Given the description of an element on the screen output the (x, y) to click on. 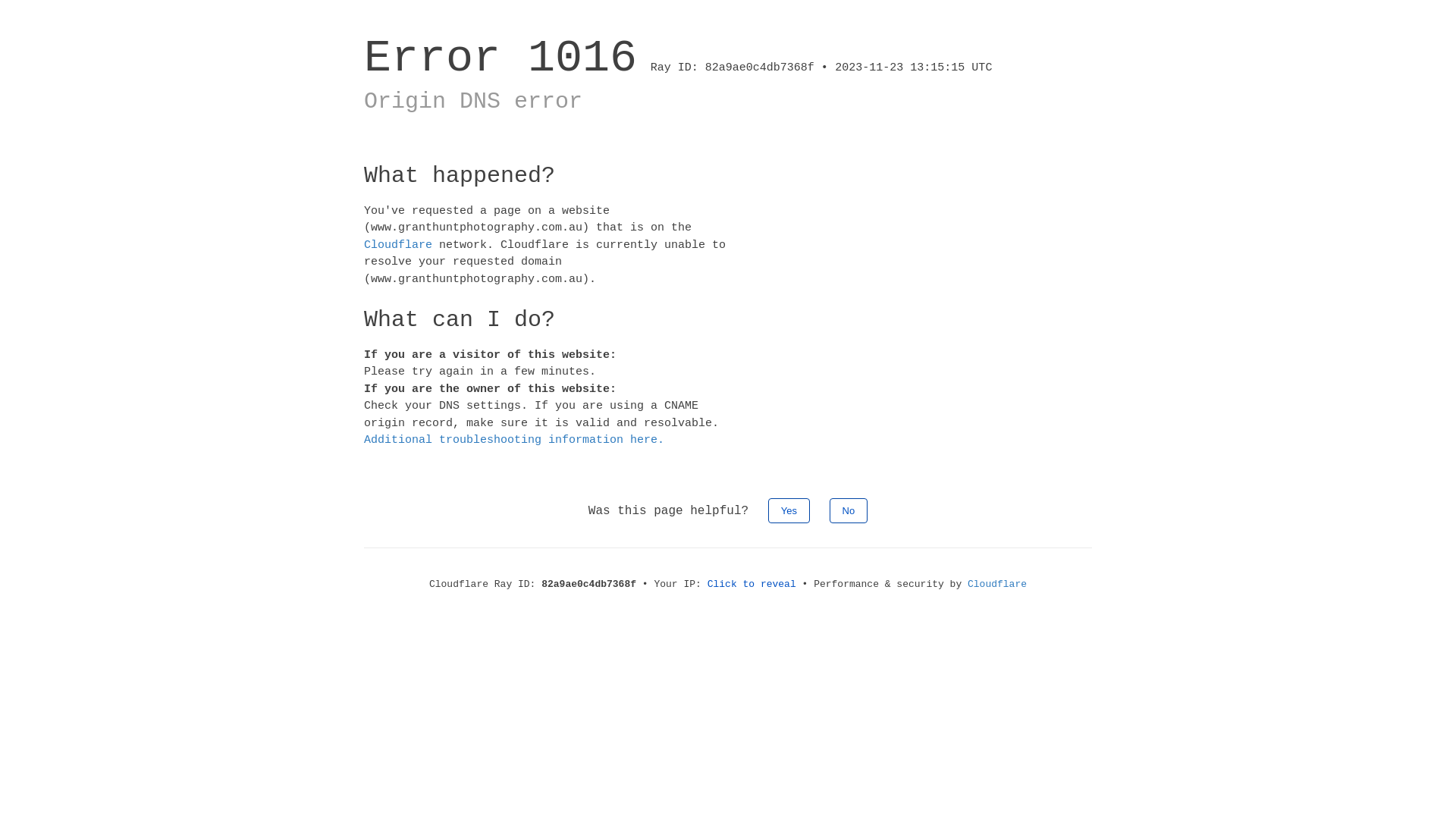
Yes Element type: text (788, 509)
Cloudflare Element type: text (996, 583)
Click to reveal Element type: text (751, 583)
No Element type: text (848, 509)
Additional troubleshooting information here. Element type: text (514, 439)
Cloudflare Element type: text (398, 244)
